Given the description of an element on the screen output the (x, y) to click on. 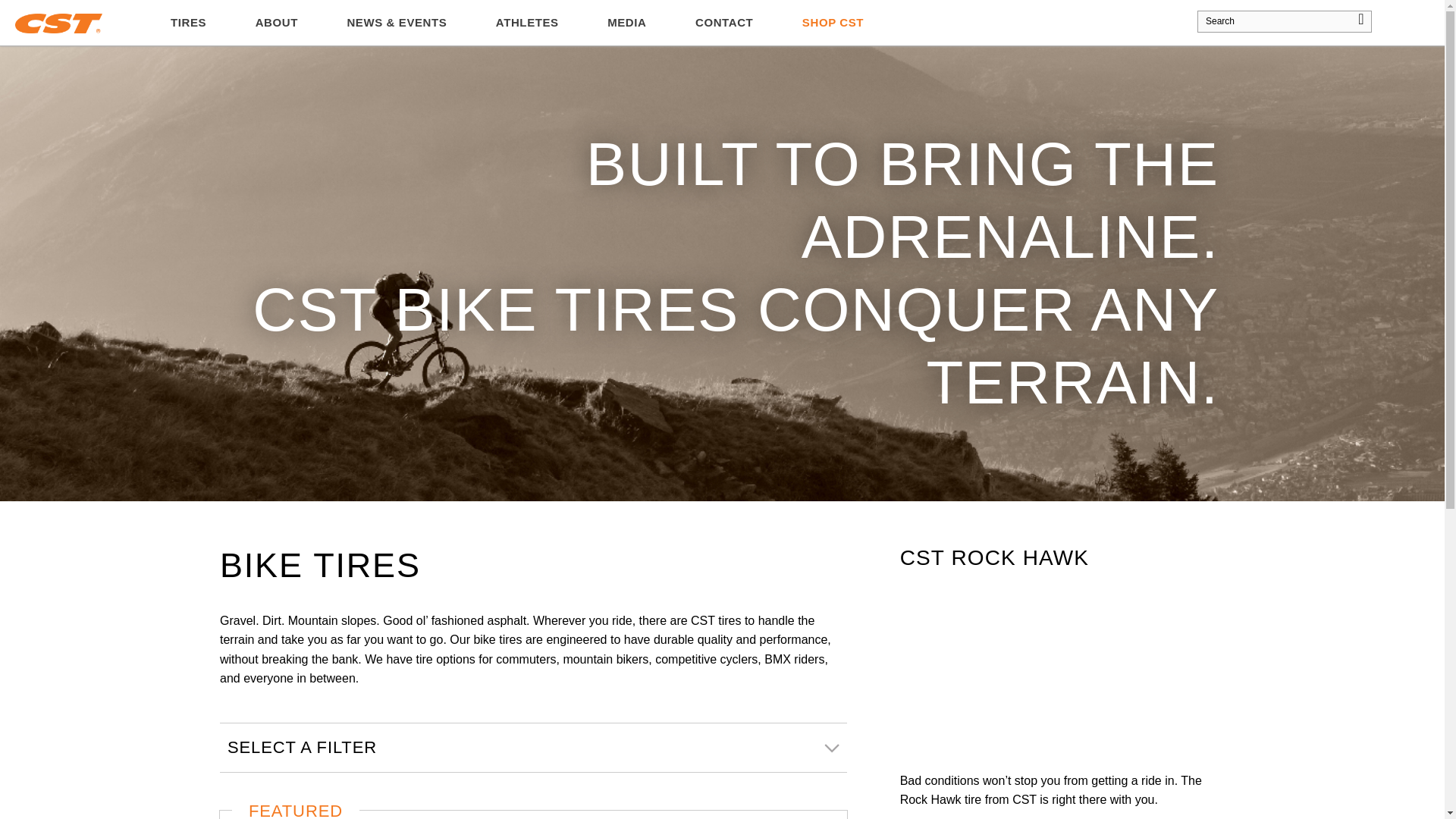
CONTACT (724, 22)
TIRES (188, 22)
MEDIA (626, 22)
SHOP CST (832, 22)
ABOUT (276, 22)
ATHLETES (526, 22)
SELECT A FILTER (533, 747)
CST Tires USA (57, 23)
